Given the description of an element on the screen output the (x, y) to click on. 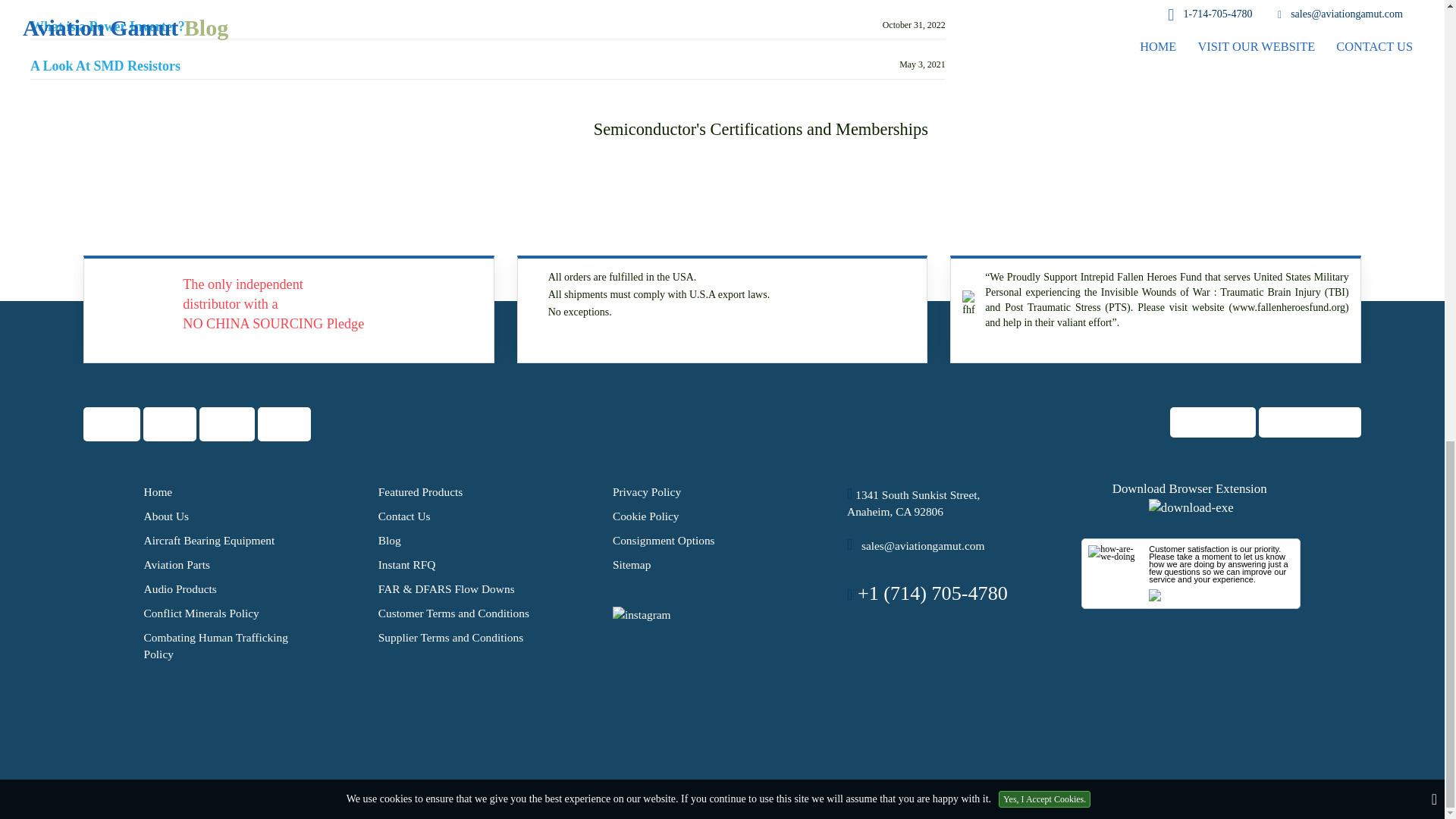
About Us (166, 515)
Aircraft Bearing Equipment (209, 540)
Home (158, 491)
What is a Power Inverter? (107, 27)
A Look At SMD Resistors (105, 66)
